Given the description of an element on the screen output the (x, y) to click on. 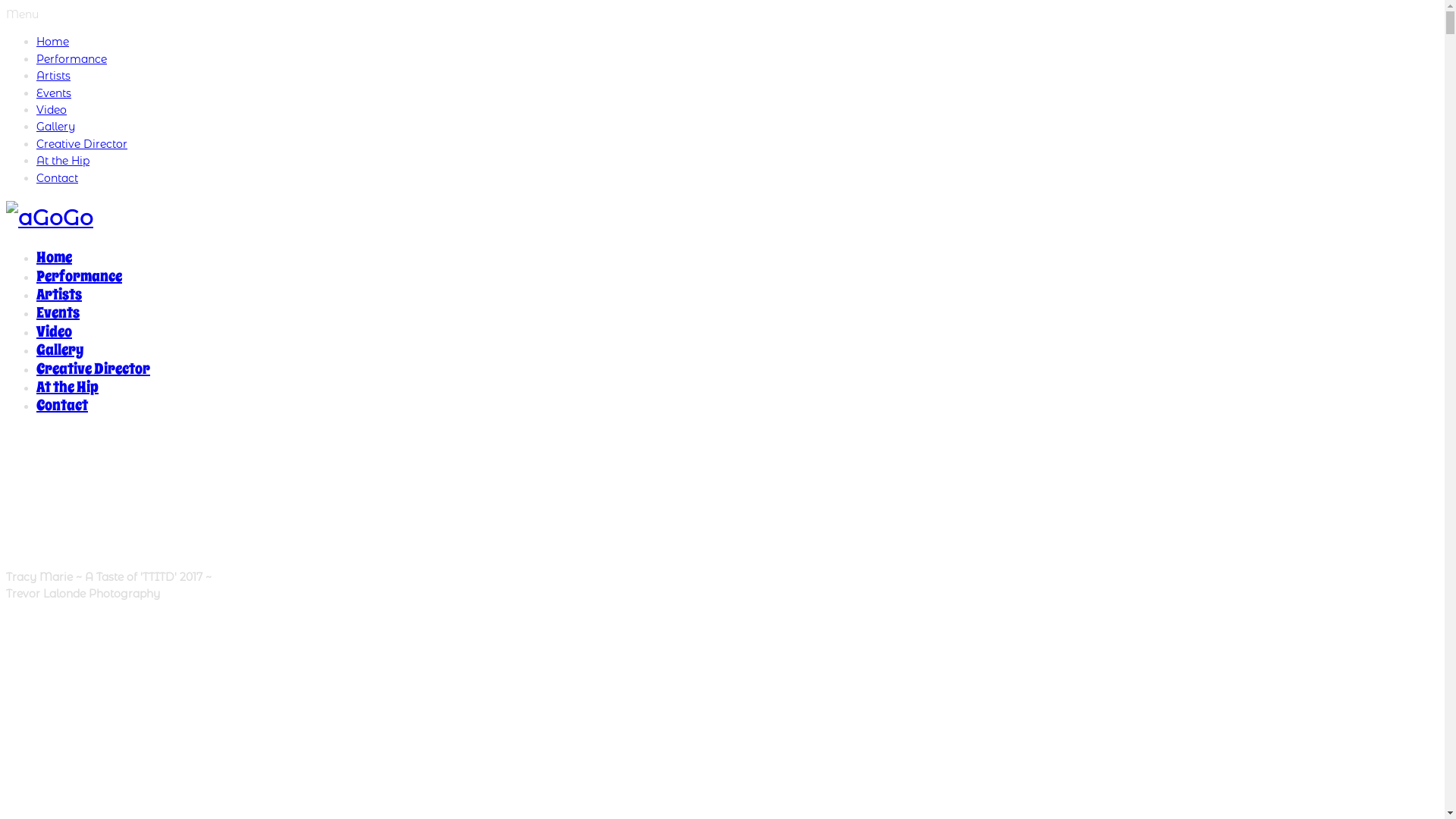
Video Element type: text (54, 331)
Artists Element type: text (53, 75)
Contact Element type: text (57, 178)
Home Element type: text (52, 41)
Events Element type: text (53, 93)
Gallery Element type: text (55, 126)
Creative Director Element type: text (93, 368)
At the Hip Element type: text (67, 386)
Contact Element type: text (61, 405)
Home Element type: text (54, 257)
At the Hip Element type: text (62, 160)
Artists Element type: text (58, 294)
Performance Element type: text (79, 276)
Gallery Element type: text (59, 349)
Performance Element type: text (71, 58)
Video Element type: text (51, 109)
Events Element type: text (57, 312)
Creative Director Element type: text (81, 143)
